Given the description of an element on the screen output the (x, y) to click on. 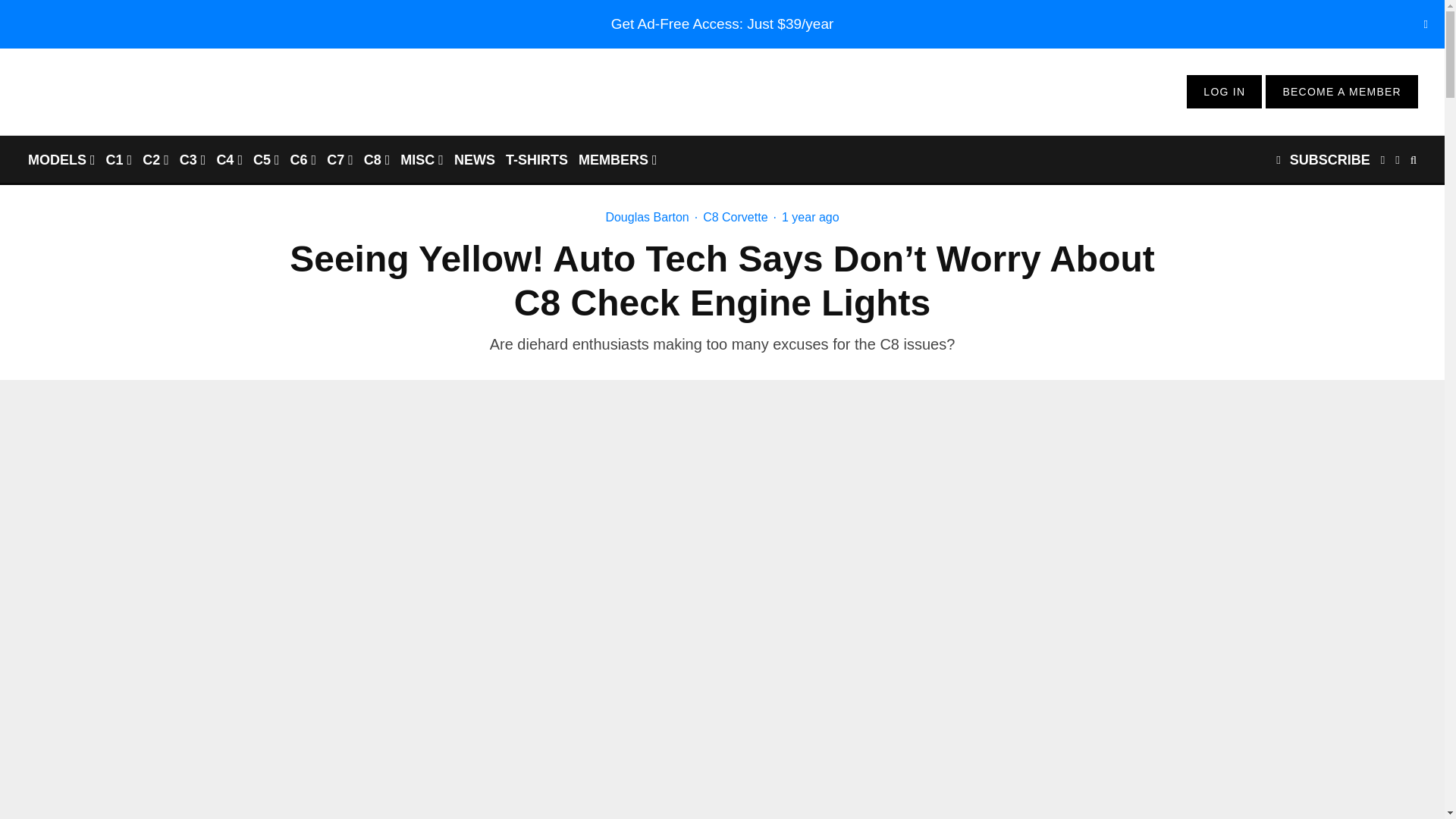
LOG IN (1224, 91)
BECOME A MEMBER (1341, 91)
MODELS (61, 159)
